Given the description of an element on the screen output the (x, y) to click on. 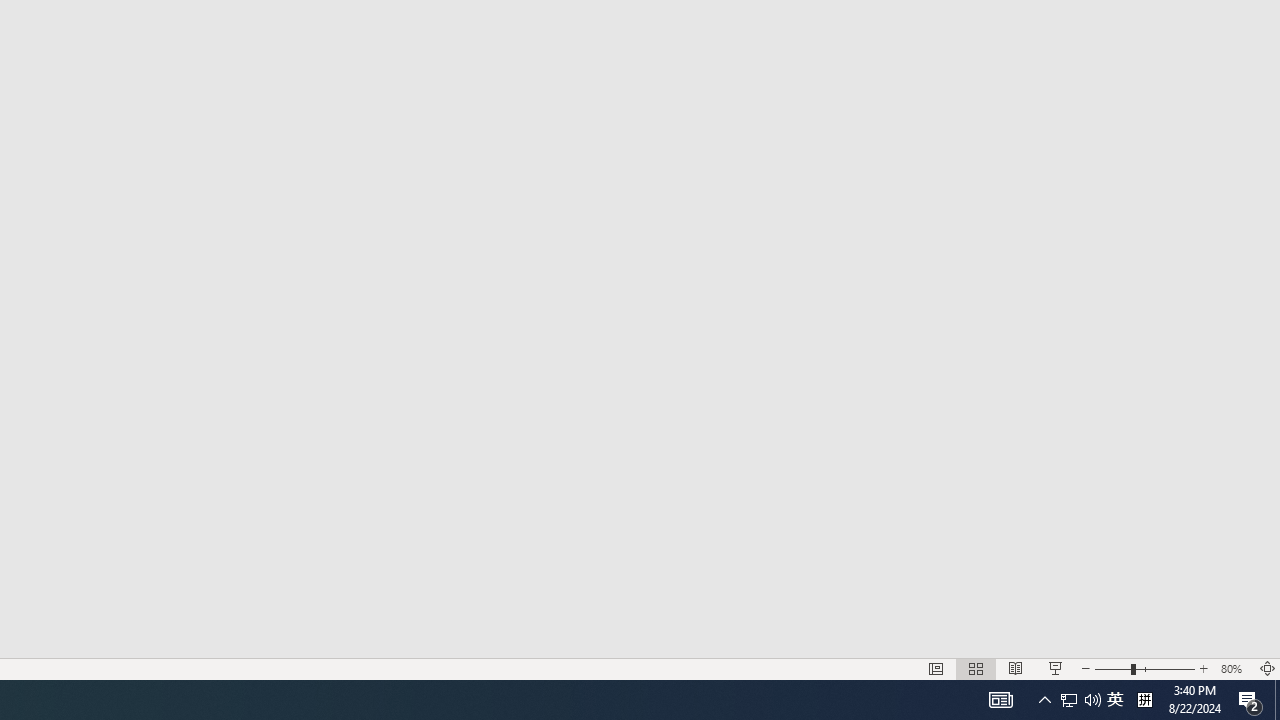
Show desktop (1277, 699)
Reading View (1015, 668)
Notification Chevron (1044, 699)
